Given the description of an element on the screen output the (x, y) to click on. 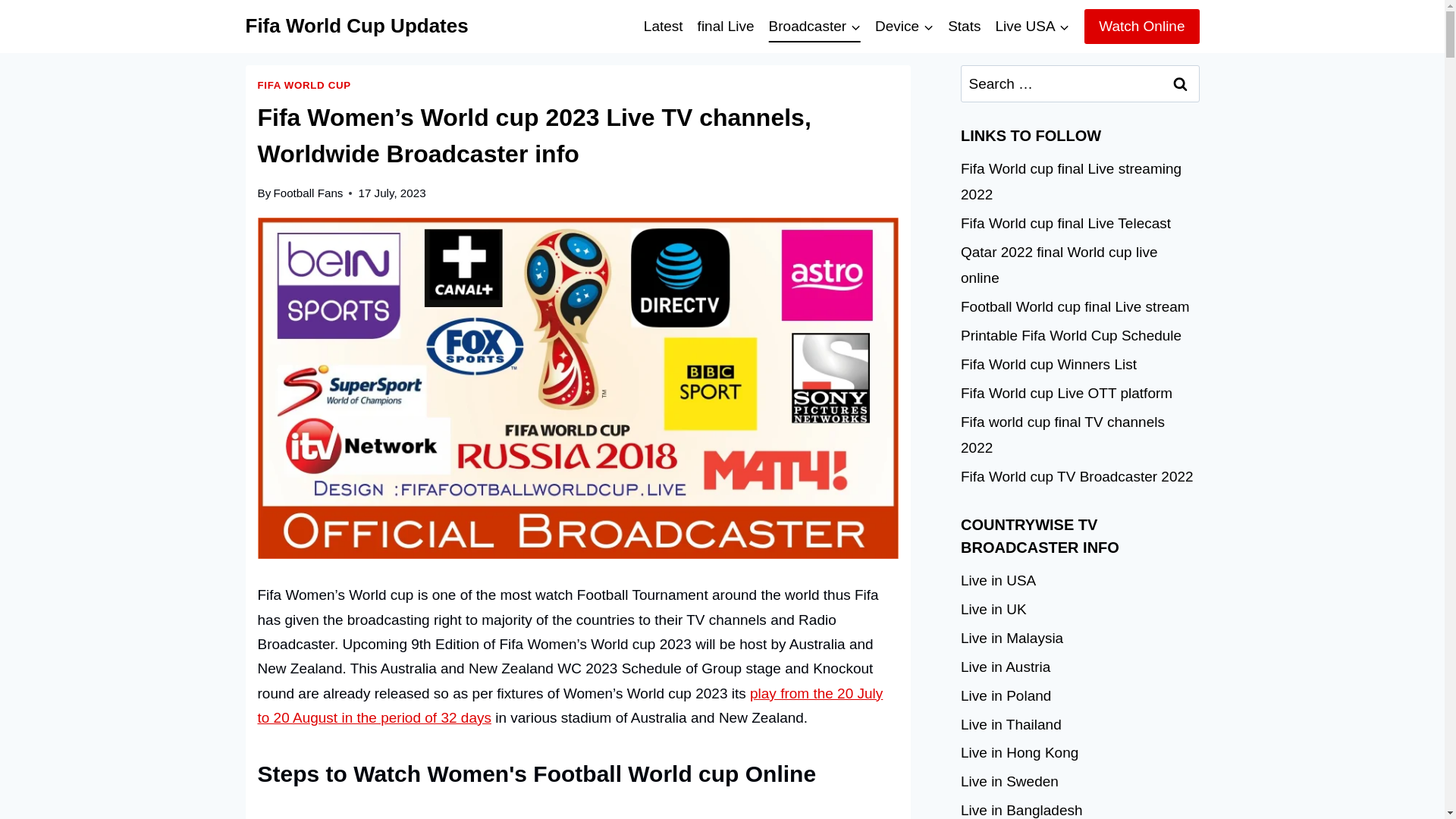
Fifa World cup Latest Updates (663, 25)
Watch Online (1141, 26)
Live USA (1032, 25)
Search (1180, 83)
Stats (964, 25)
Latest (663, 25)
play from the 20 July to 20 August in the period of 32 days (570, 705)
Broadcaster (814, 25)
Device (903, 25)
Fifa World cup Live on Various Device  (903, 25)
final Live (725, 25)
Football Fans (307, 192)
FIFA WORLD CUP (303, 84)
Search (1180, 83)
Fifa World Cup Updates (357, 25)
